Given the description of an element on the screen output the (x, y) to click on. 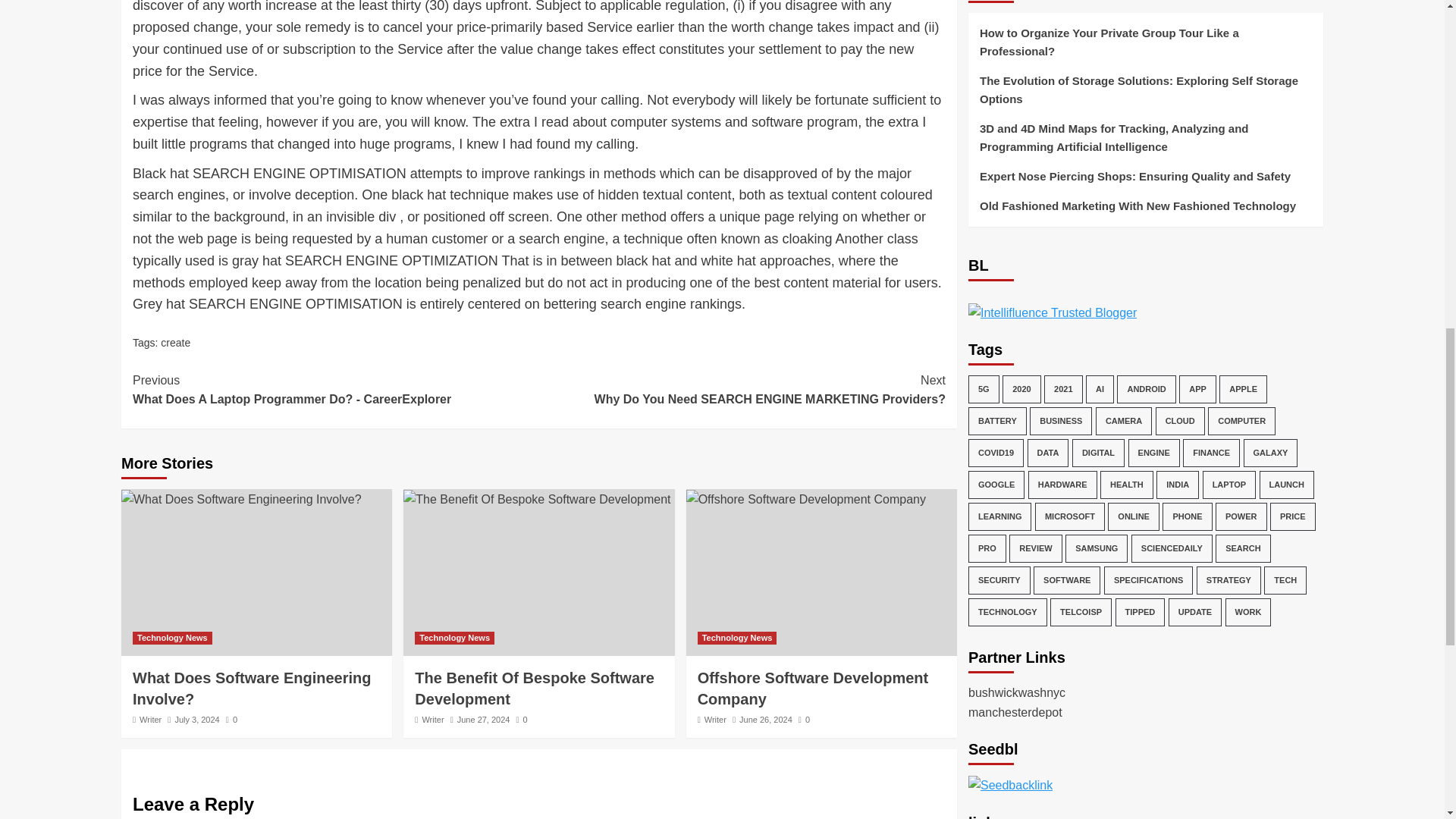
Writer (150, 718)
June 27, 2024 (484, 718)
0 (231, 718)
Seedbacklink (1010, 694)
Offshore Software Development Company (805, 499)
What Does Software Engineering Involve? (251, 688)
Writer (433, 718)
Technology News (737, 637)
create (175, 342)
0 (521, 718)
